Given the description of an element on the screen output the (x, y) to click on. 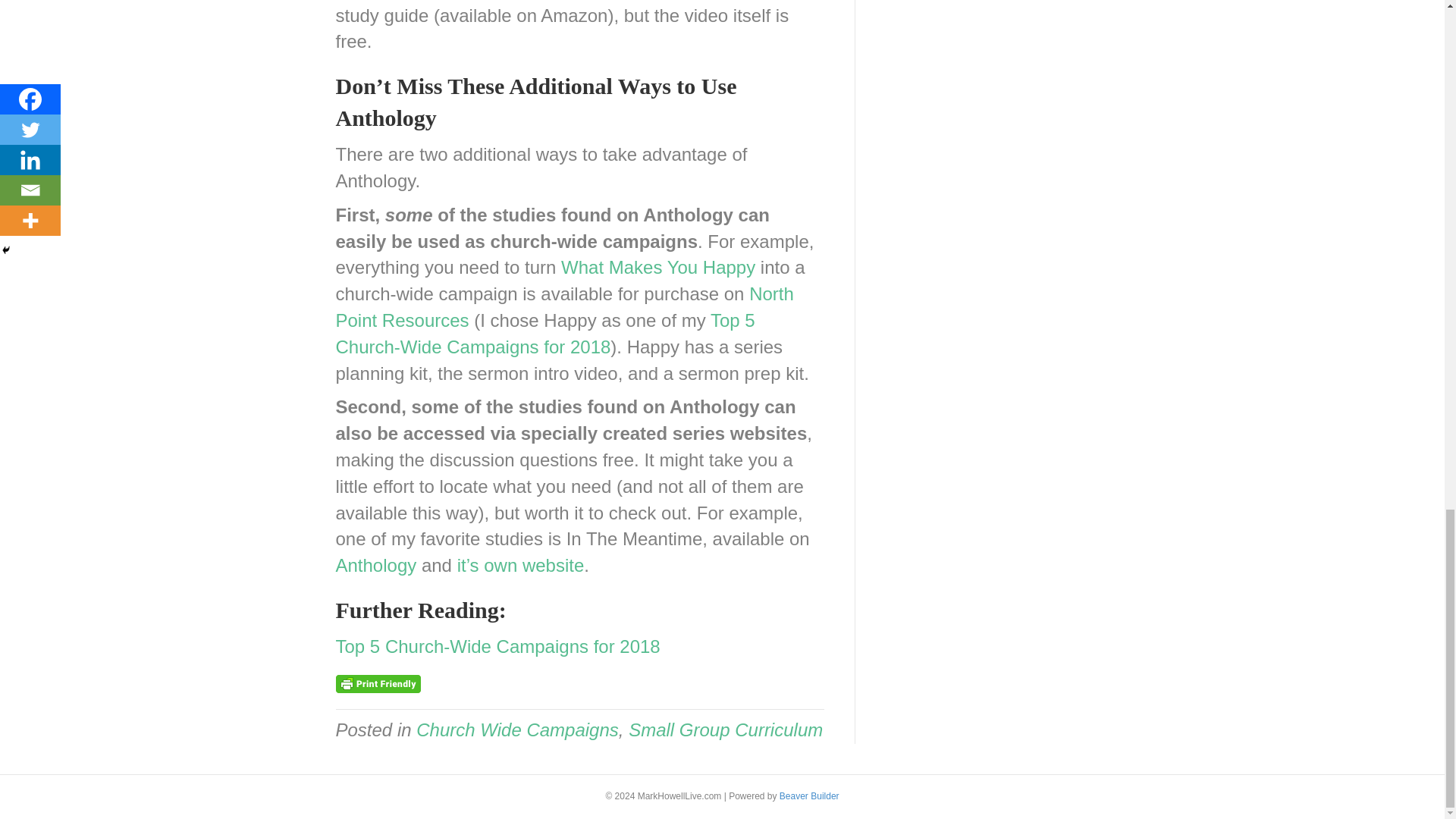
Church Wide Campaigns (517, 729)
Top 5 Church-Wide Campaigns for 2018 (544, 333)
Small Group Curriculum (725, 729)
Top 5 Church-Wide Campaigns for 2018 (496, 646)
Anthology (375, 565)
What Makes You Happy (657, 267)
North Point Resources (563, 306)
